Given the description of an element on the screen output the (x, y) to click on. 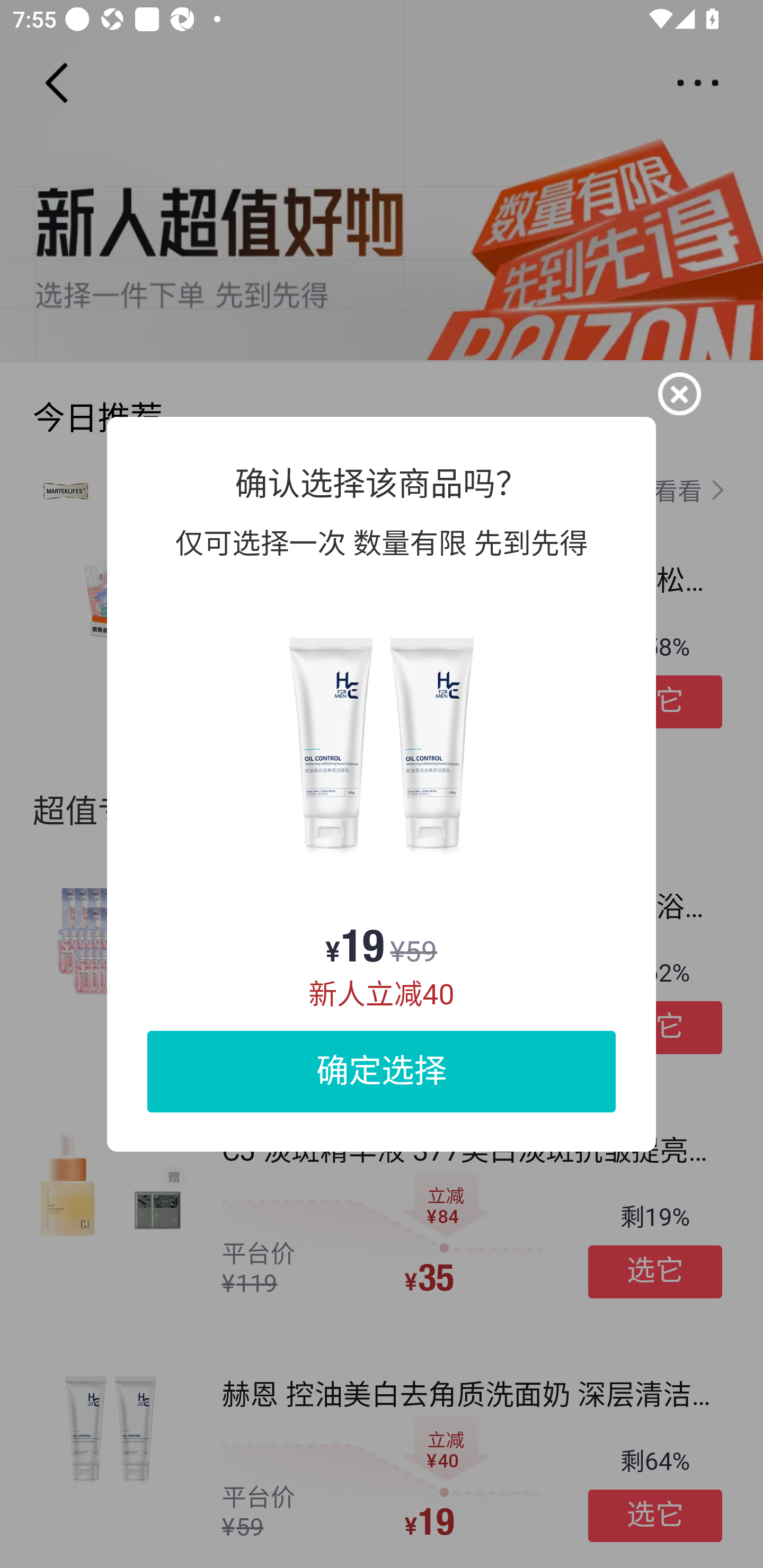
确定选择 (381, 1070)
